Given the description of an element on the screen output the (x, y) to click on. 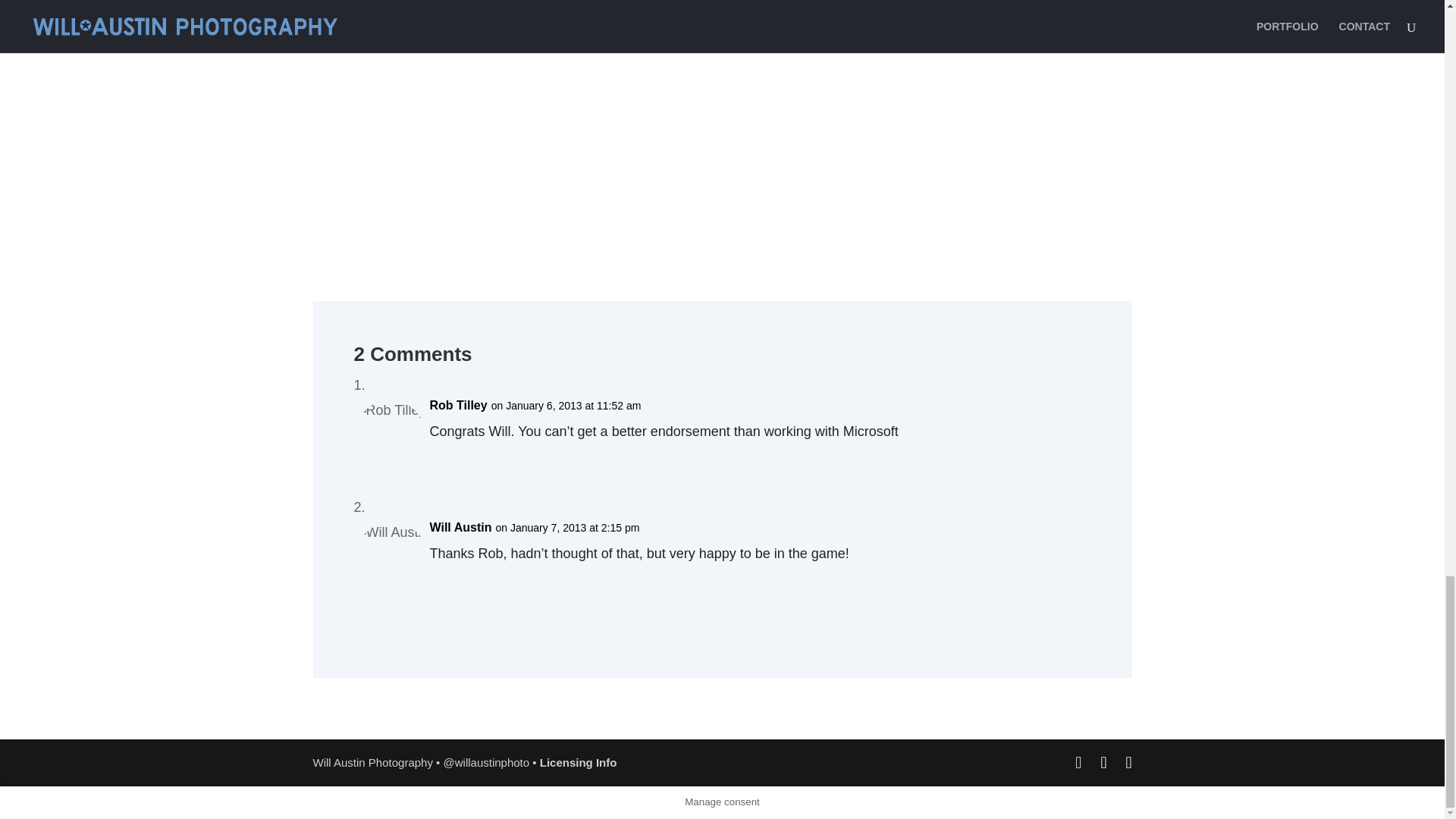
Licensing Info (578, 762)
Rob Tilley (457, 405)
Will Austin (460, 527)
